Given the description of an element on the screen output the (x, y) to click on. 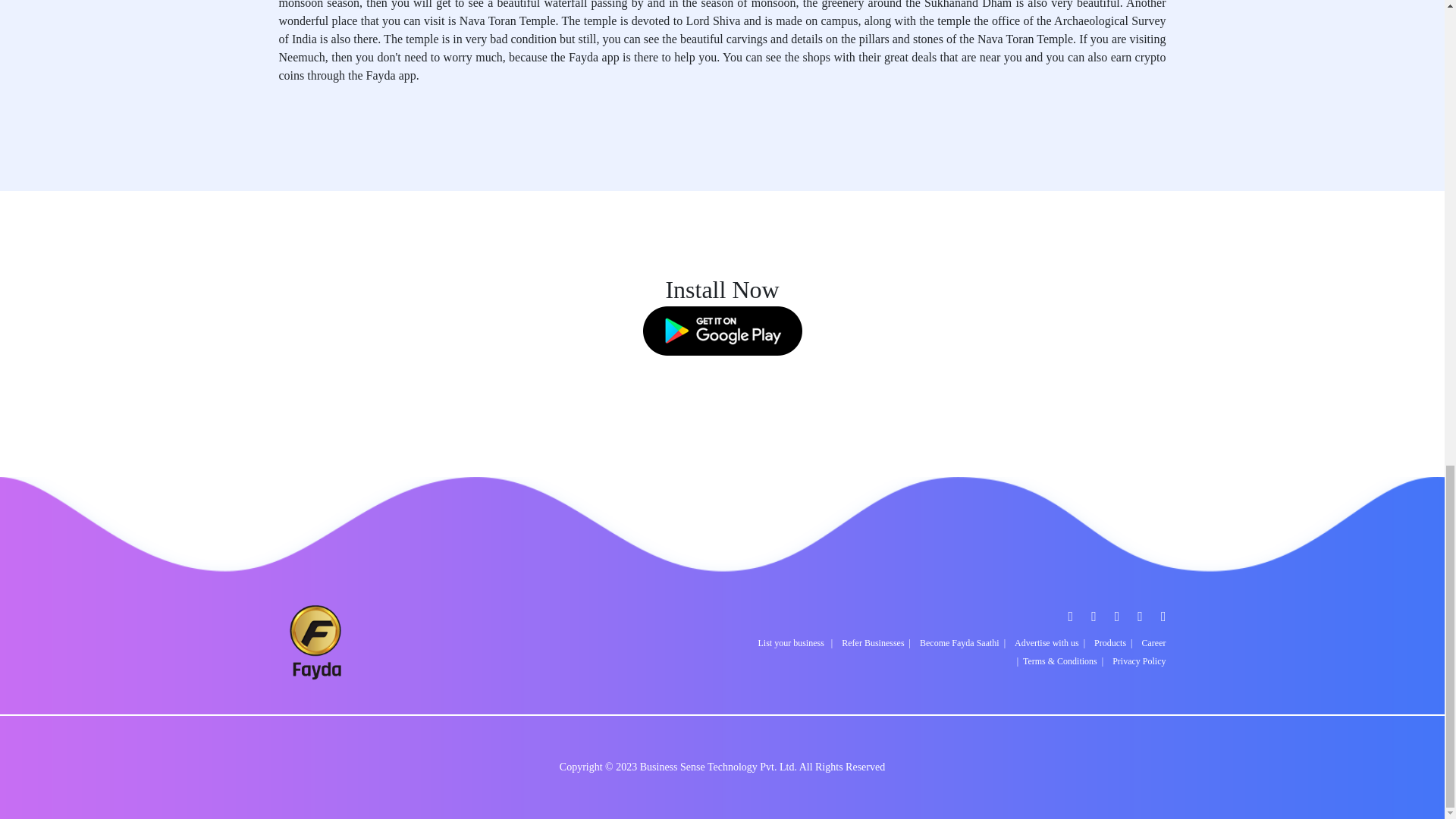
Career (1153, 643)
Privacy Policy (1139, 661)
